Given the description of an element on the screen output the (x, y) to click on. 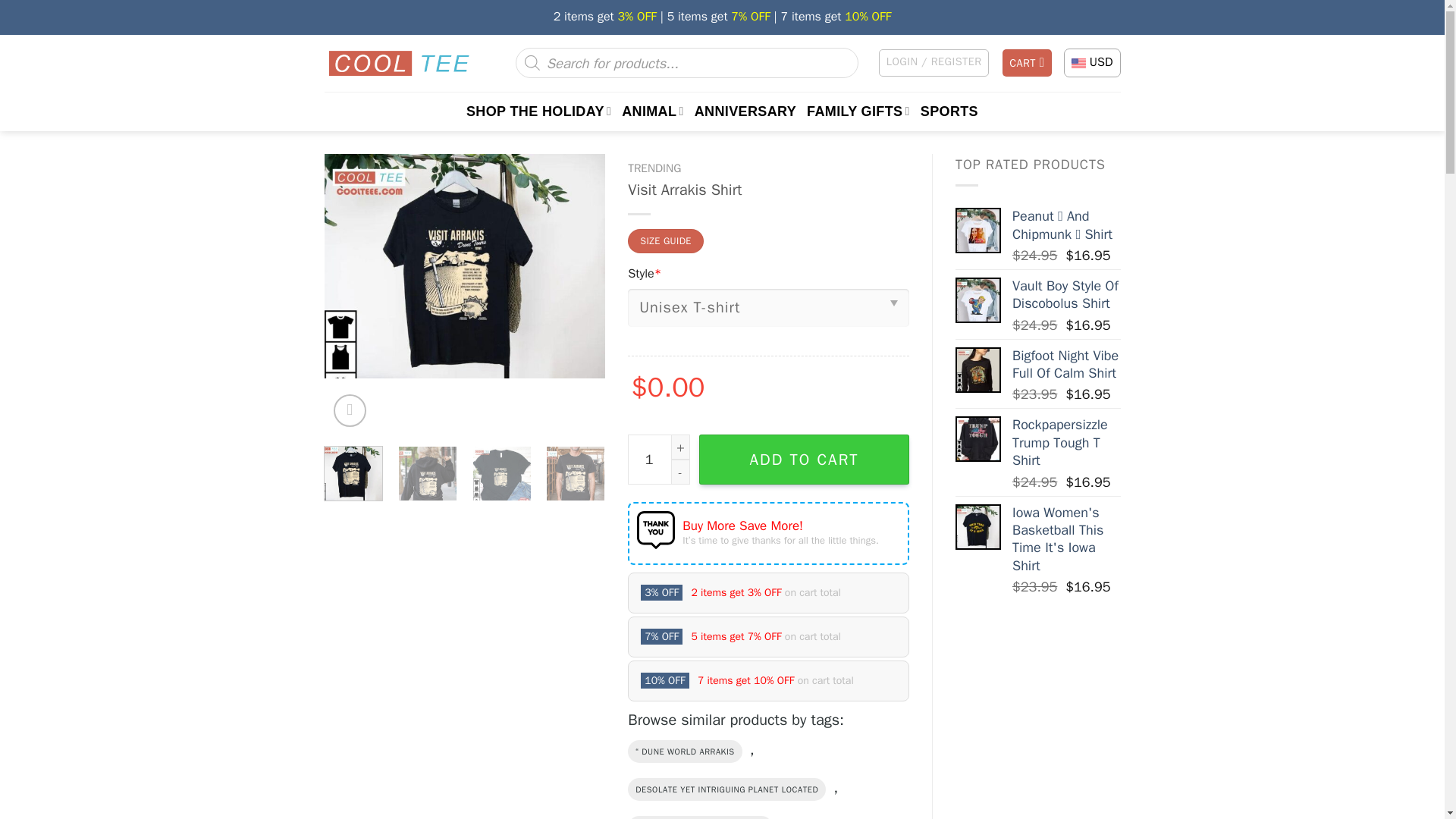
Vault Boy Style Of Discobolus Shirt (978, 299)
Bigfoot Night Vibe Full Of Calm Shirt (1066, 365)
Bigfoot Night Vibe Full Of Calm Shirt (978, 370)
CART (1027, 62)
Cart (1027, 62)
Visit Arrakis Shirt (464, 266)
Vault Boy Style Of Discobolus Shirt (1066, 294)
ANIMAL (652, 111)
Iowa Women's Basketball This Time It's Iowa Shirt (1066, 539)
1 (658, 459)
